Given the description of an element on the screen output the (x, y) to click on. 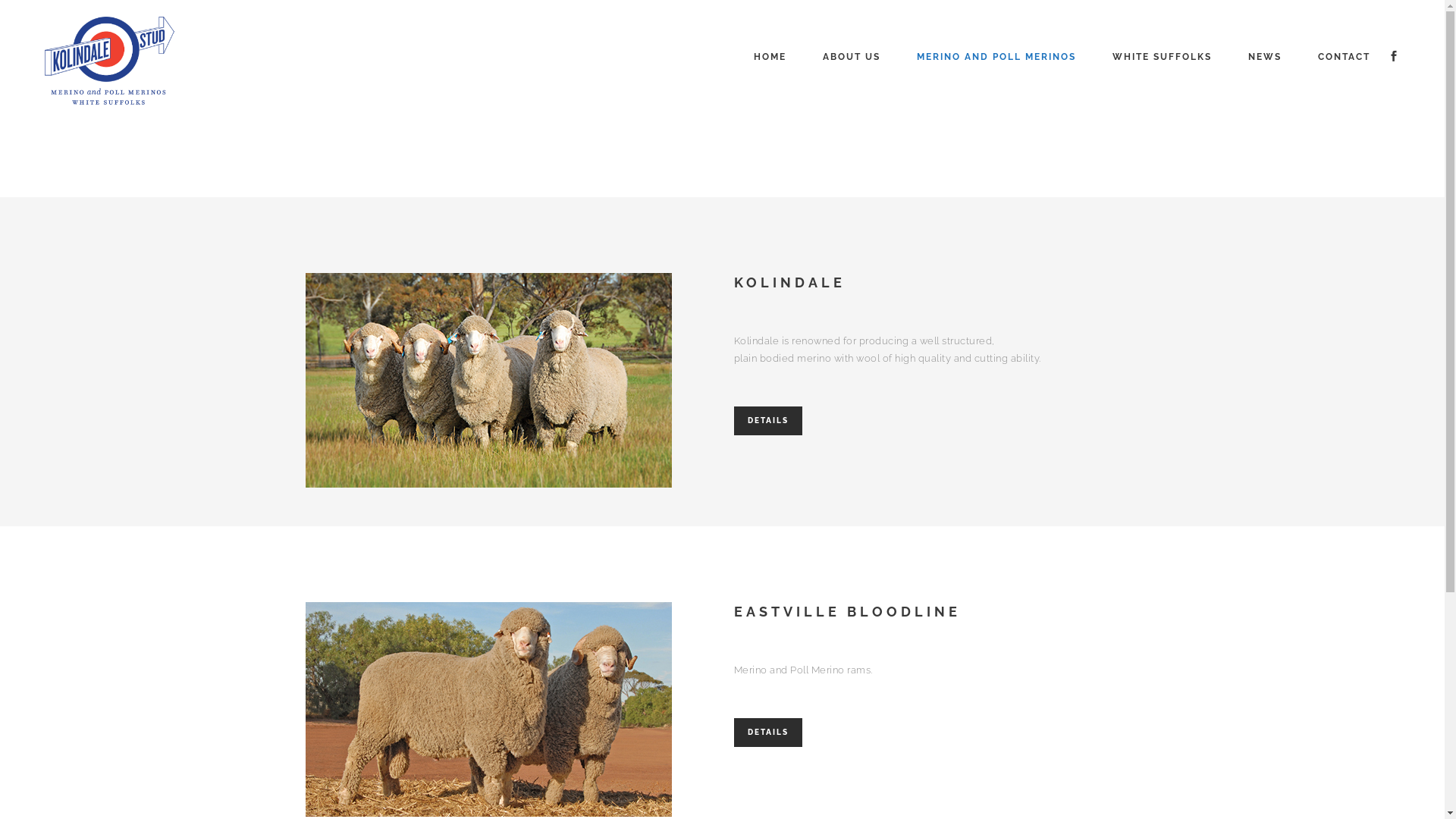
NEWS Element type: text (1264, 56)
ABOUT US Element type: text (851, 56)
CONTACT Element type: text (1343, 56)
WHITE SUFFOLKS Element type: text (1162, 56)
DETAILS Element type: text (768, 732)
DETAILS Element type: text (768, 420)
KOLINDALE_WAN_SMALL 2021 Element type: hover (487, 709)
HOME Element type: text (769, 56)
KOLINDALE_SMALL 2020 Element type: hover (487, 380)
MERINO AND POLL MERINOS Element type: text (996, 56)
